Given the description of an element on the screen output the (x, y) to click on. 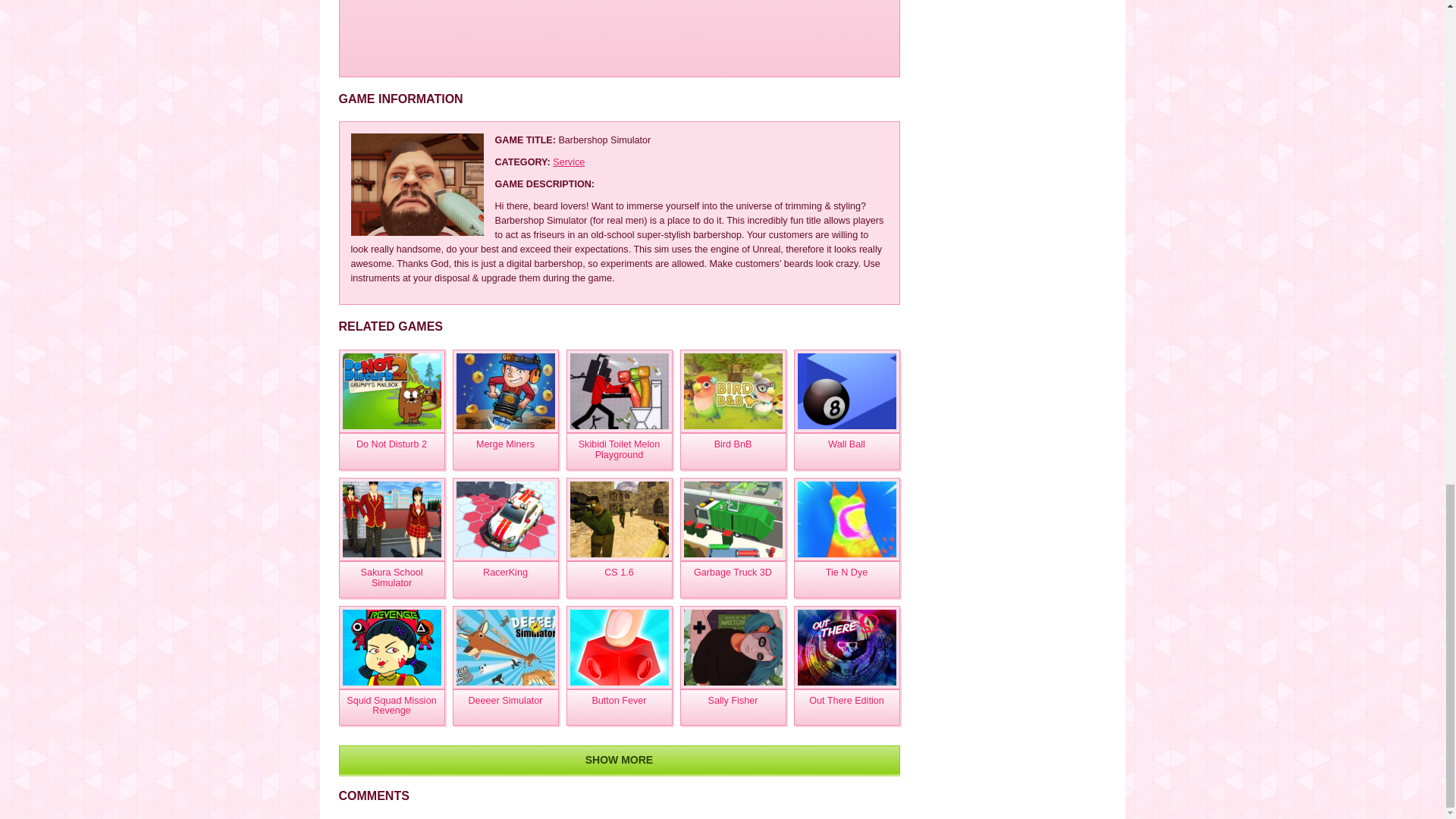
Wall Ball (846, 451)
Skibidi Toilet Melon Playground (618, 451)
RacerKing (504, 579)
Wall Ball (846, 451)
Do Not Disturb 2 (390, 391)
Sakura School Simulator (390, 579)
Do Not Disturb 2 (390, 451)
Wall Ball (846, 391)
Service (569, 162)
Bird BnB (732, 451)
